Given the description of an element on the screen output the (x, y) to click on. 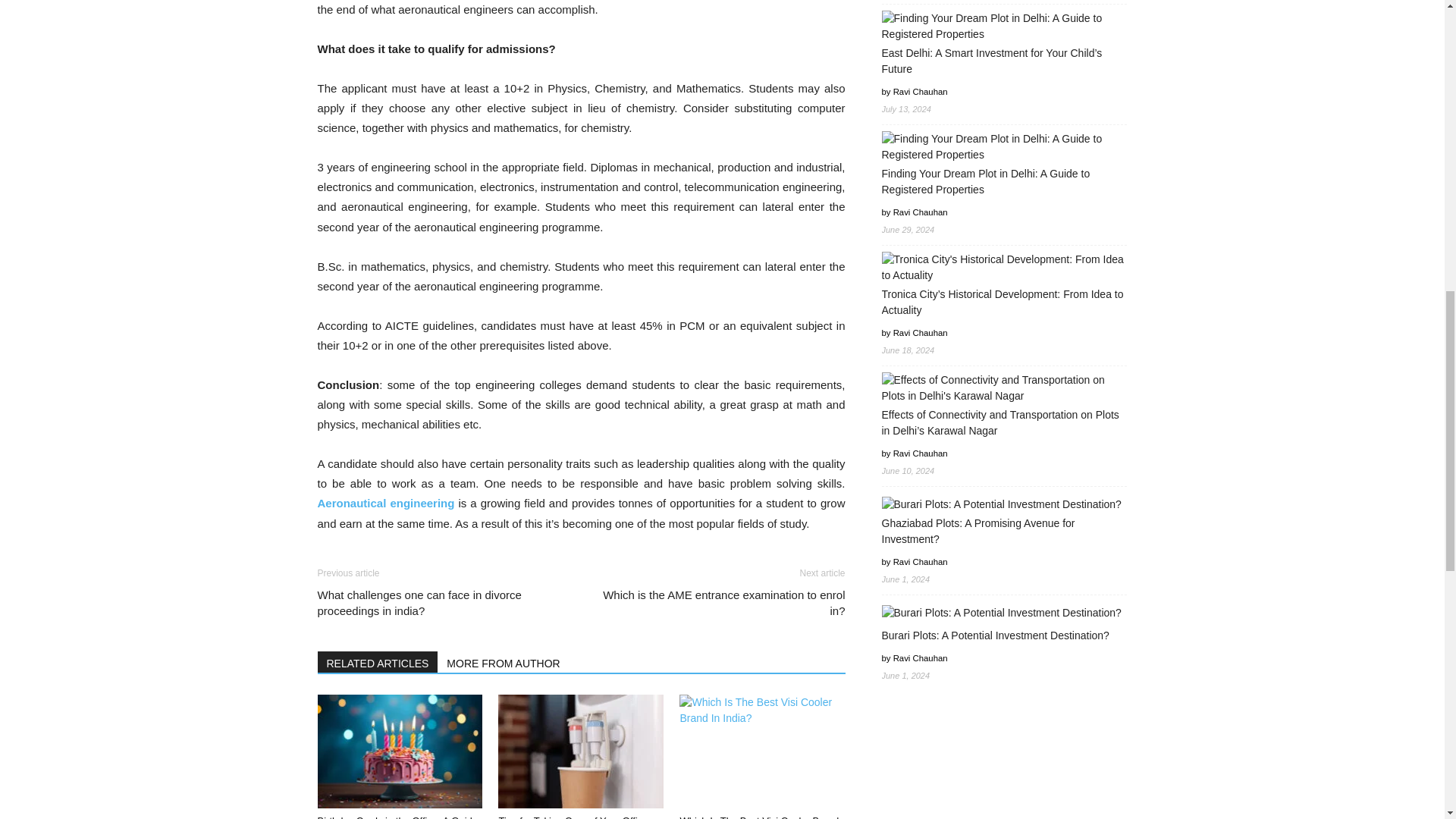
Which Is The Best Visi Cooler Brand In India? (758, 816)
Tips for Taking Care of Your Office Water Cooler (572, 816)
Which is the AME entrance examination to enrol in? (721, 603)
Aeronautical engineering (385, 502)
Which Is The Best Visi Cooler Brand In India? (761, 751)
Tips for Taking Care of Your Office Water Cooler (580, 751)
RELATED ARTICLES (377, 661)
Tips for Taking Care of Your Office Water Cooler (572, 816)
Which Is The Best Visi Cooler Brand In India? (758, 816)
MORE FROM AUTHOR (503, 661)
